Given the description of an element on the screen output the (x, y) to click on. 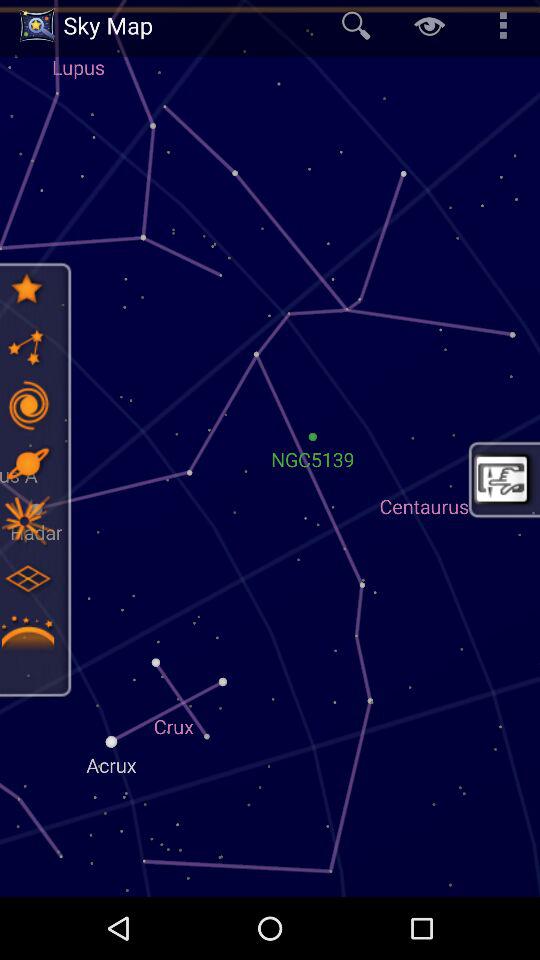
view asteroids (27, 636)
